Given the description of an element on the screen output the (x, y) to click on. 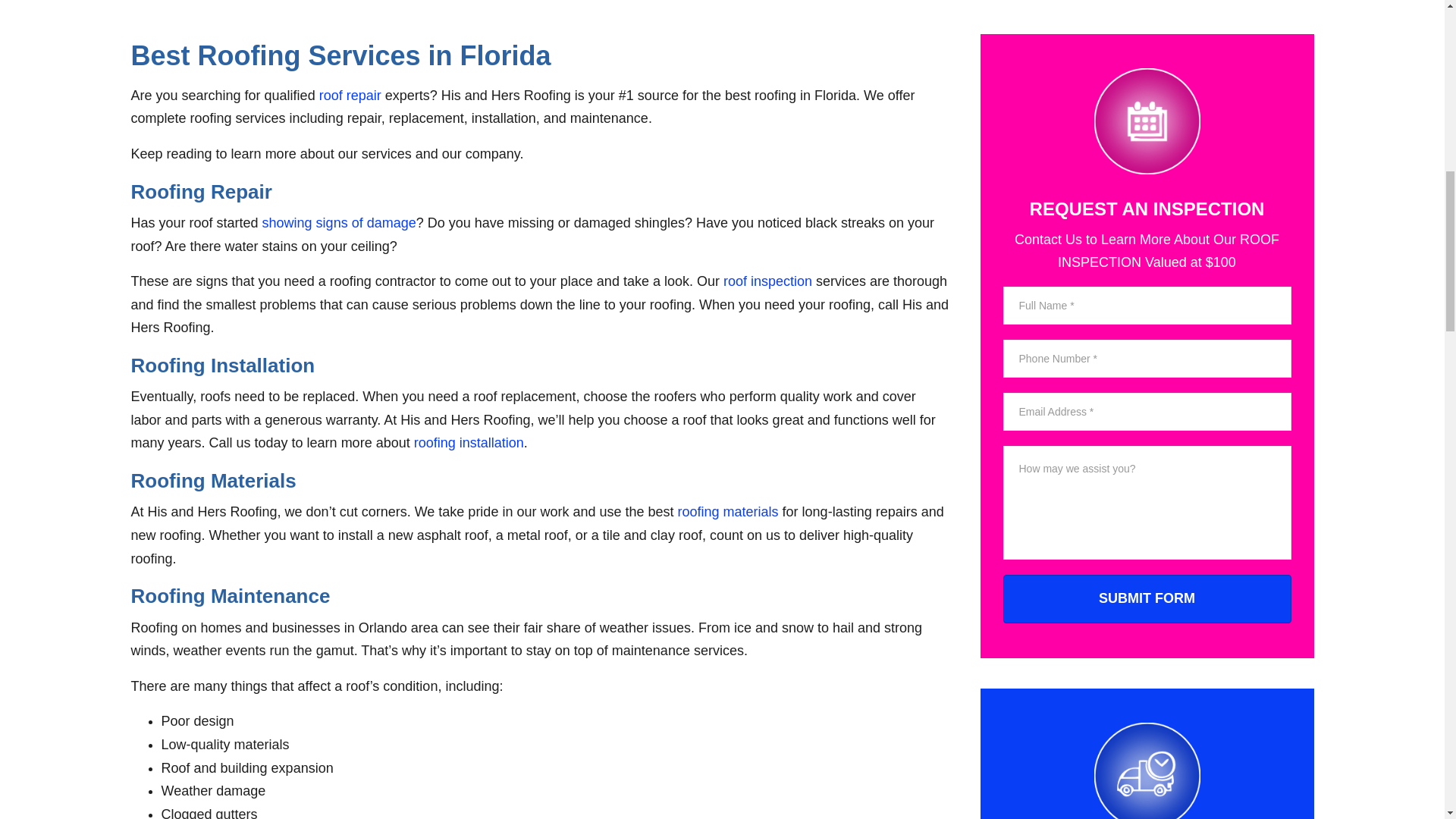
services (1146, 770)
Submit Form (1146, 598)
schedule an appointment (1146, 120)
